Given the description of an element on the screen output the (x, y) to click on. 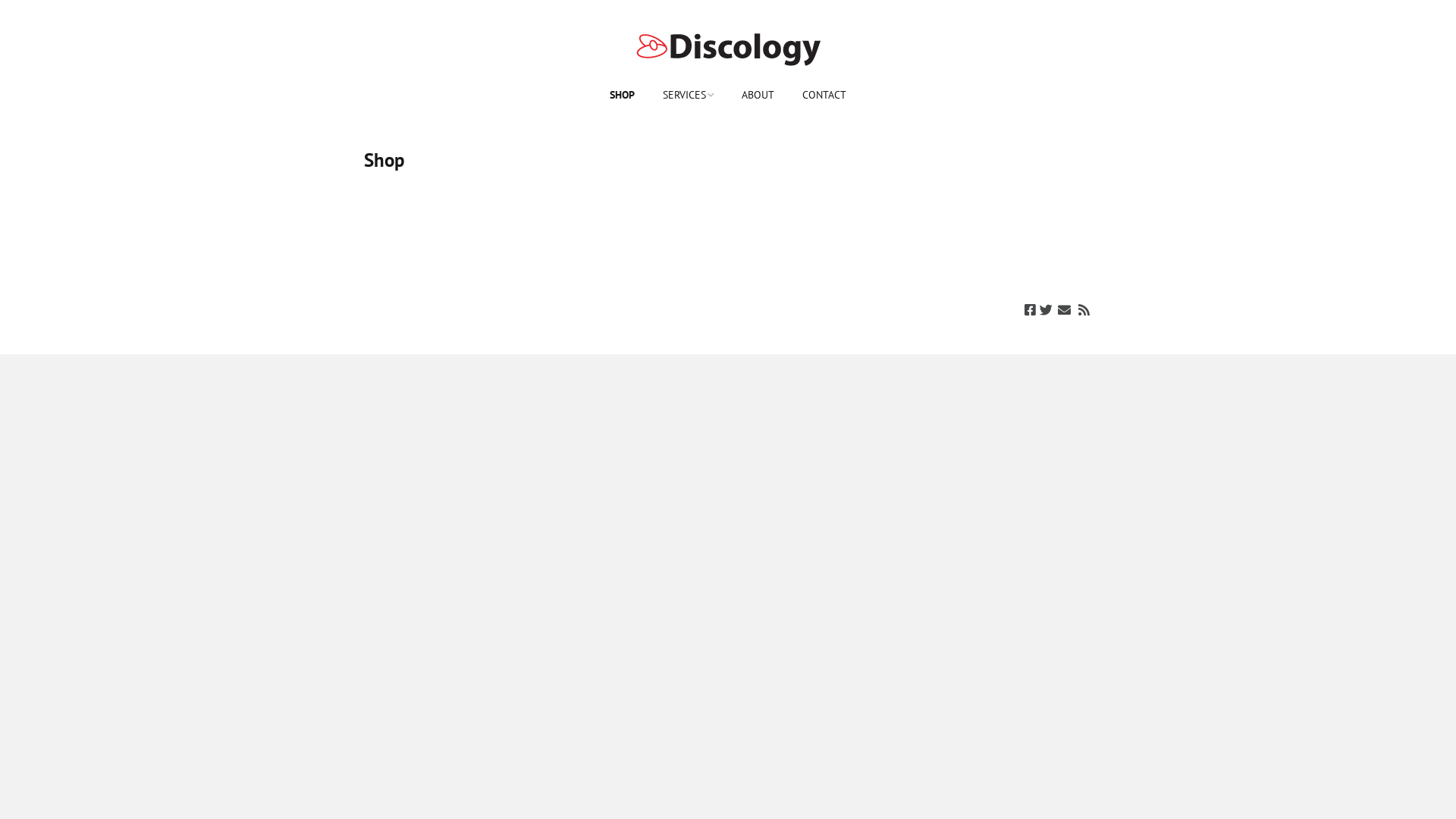
SHOP Element type: text (621, 95)
SERVICES Element type: text (688, 95)
ABOUT Element type: text (757, 95)
CONTACT Element type: text (824, 95)
